Given the description of an element on the screen output the (x, y) to click on. 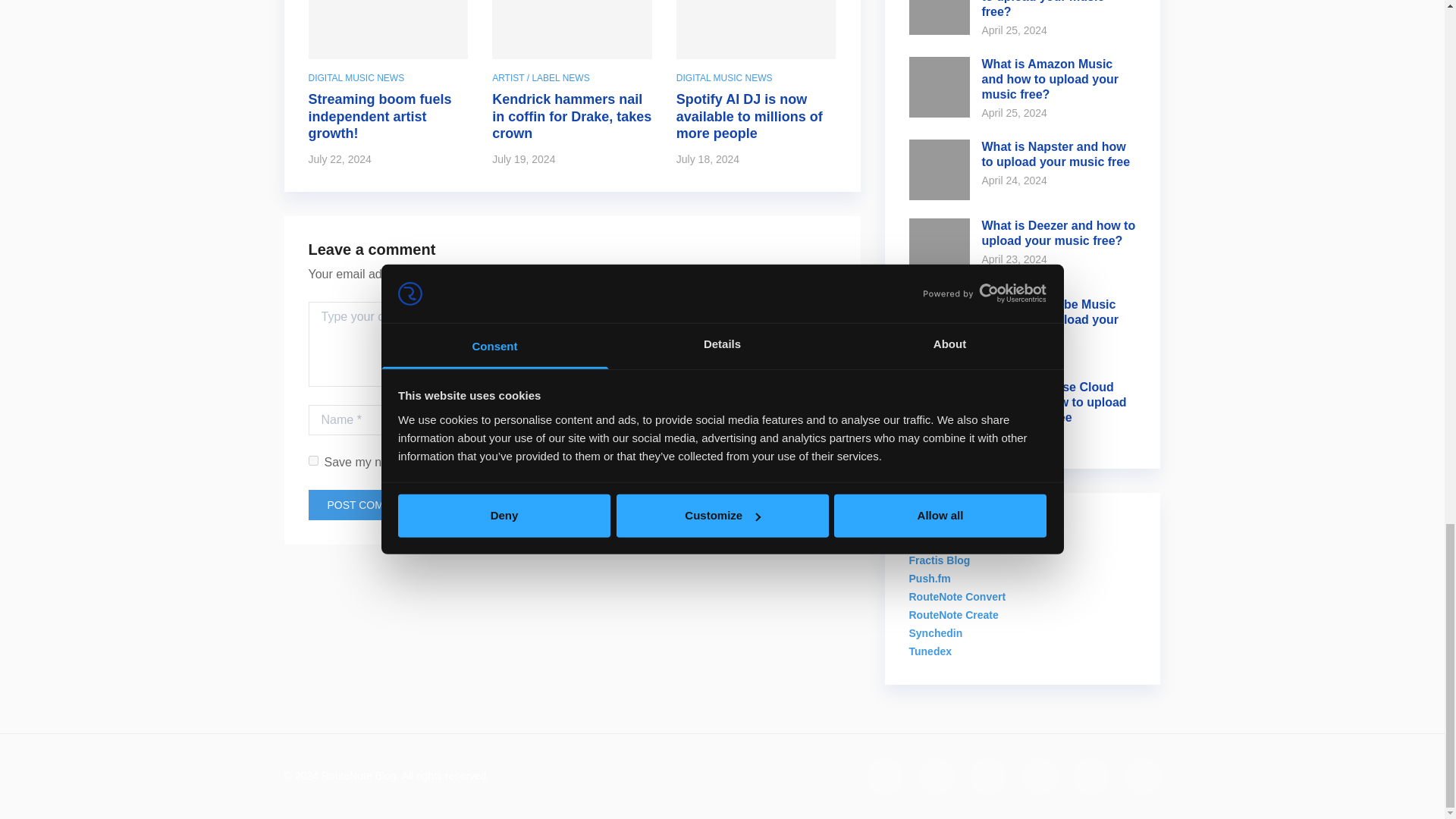
yes (312, 460)
Post Comment (369, 504)
